Given the description of an element on the screen output the (x, y) to click on. 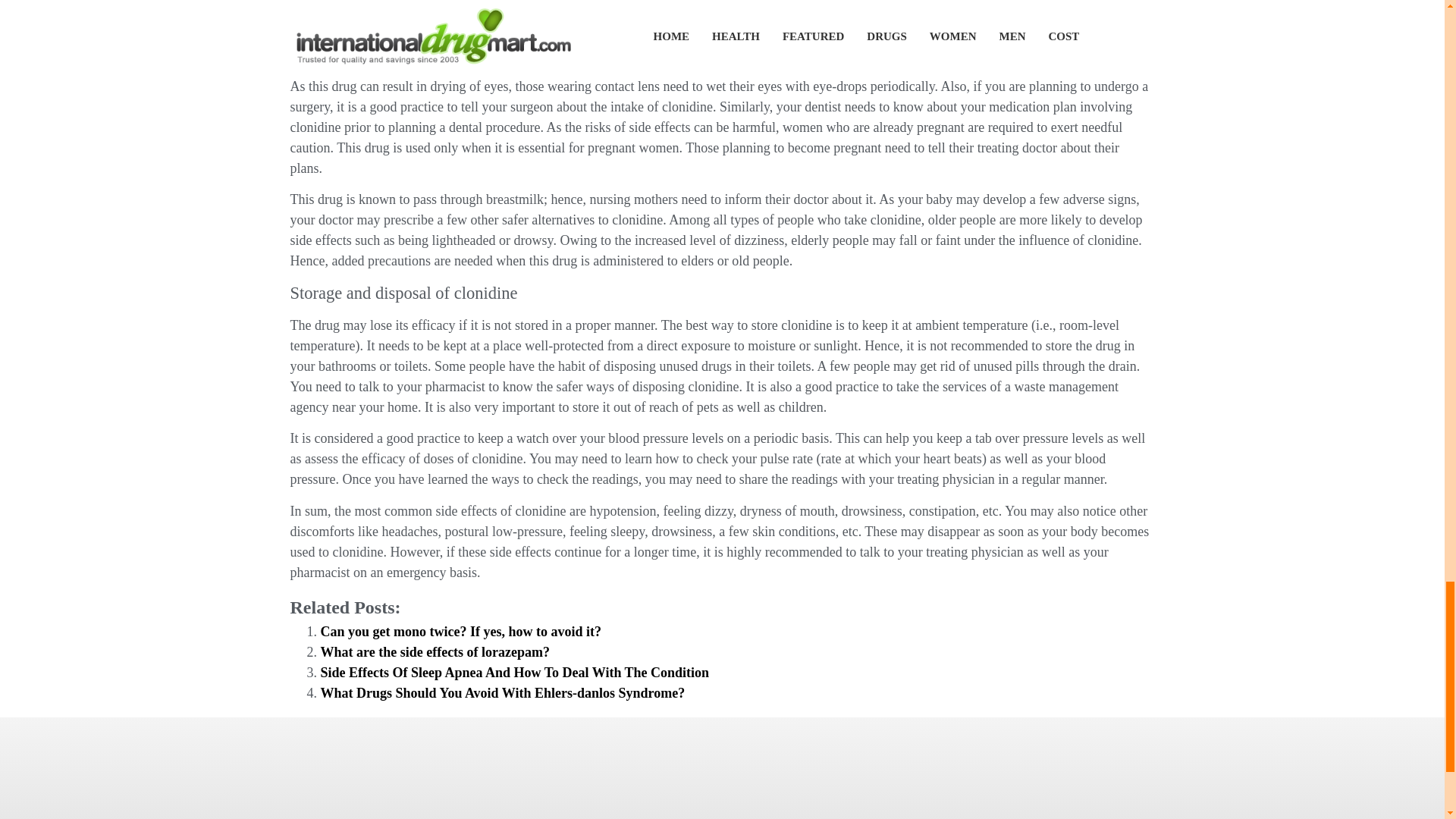
Can you get mono twice? If yes, how to avoid it? (460, 631)
Can you get mono twice? If yes, how to avoid it? (460, 631)
What Drugs Should You Avoid With Ehlers-danlos Syndrome? (502, 693)
What are the side effects of lorazepam? (435, 652)
What are the side effects of lorazepam? (435, 652)
What Drugs Should You Avoid With Ehlers-danlos Syndrome? (502, 693)
